Given the description of an element on the screen output the (x, y) to click on. 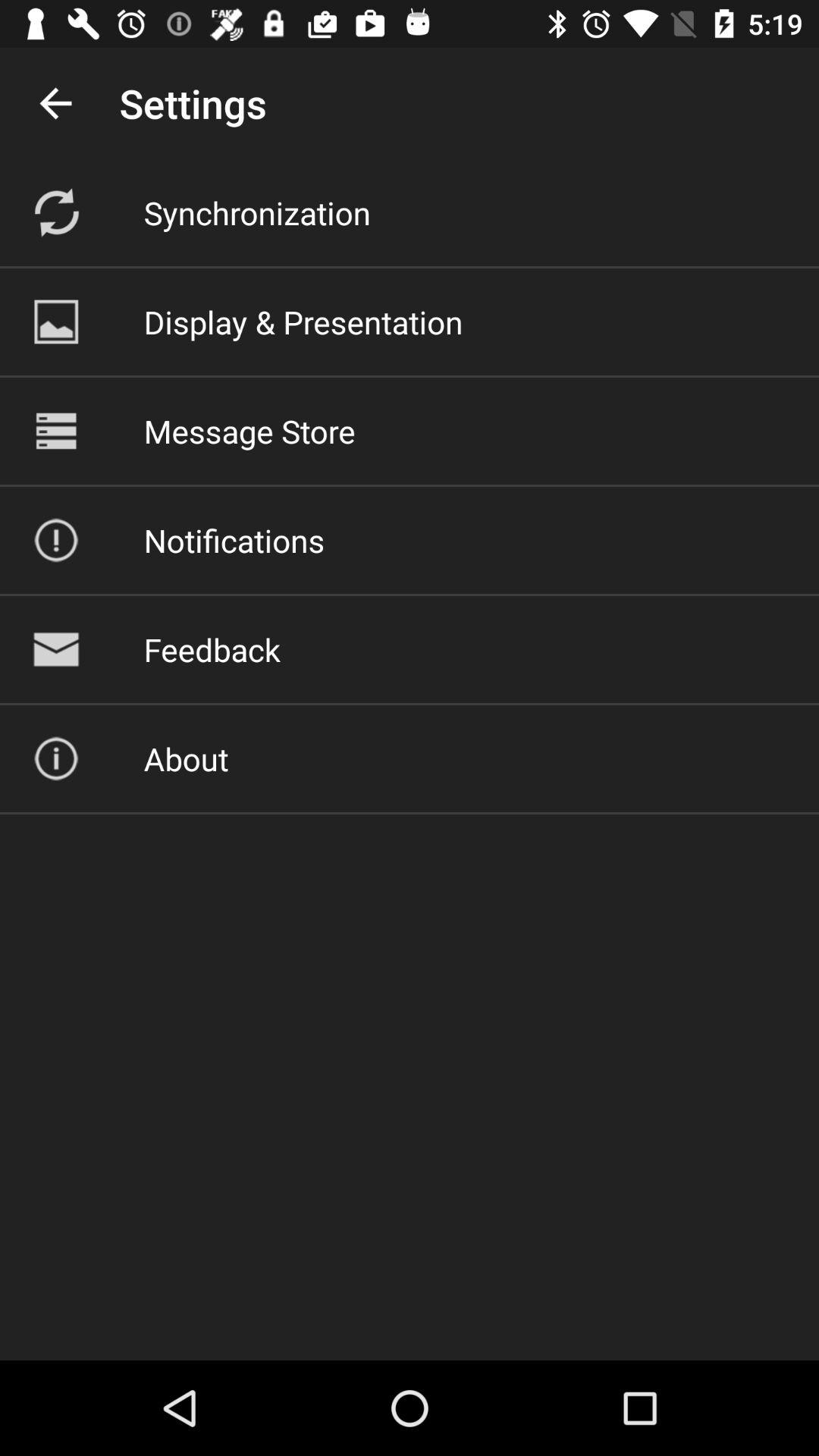
turn on the feedback item (211, 649)
